Given the description of an element on the screen output the (x, y) to click on. 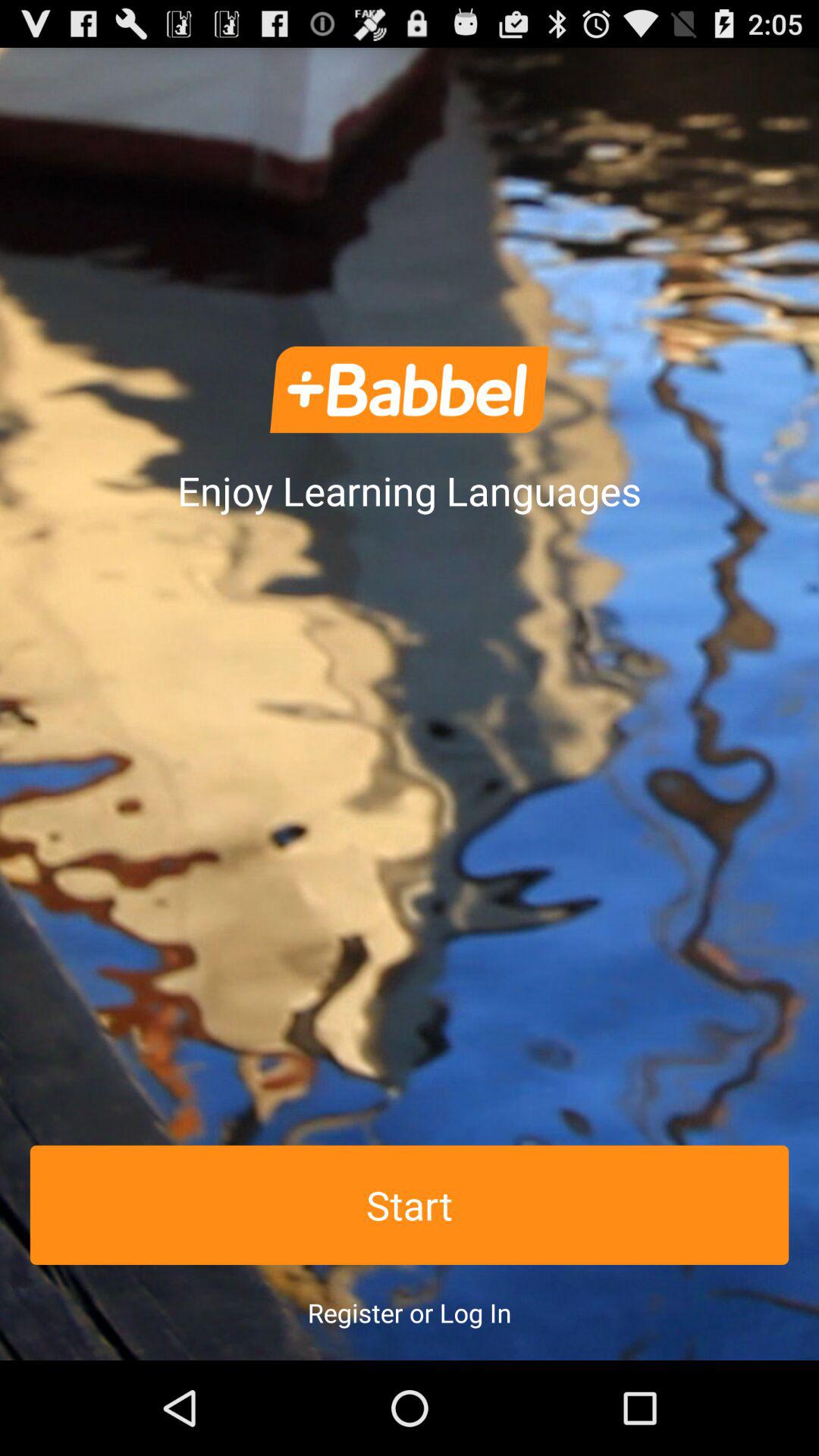
swipe until the register or log item (409, 1312)
